Given the description of an element on the screen output the (x, y) to click on. 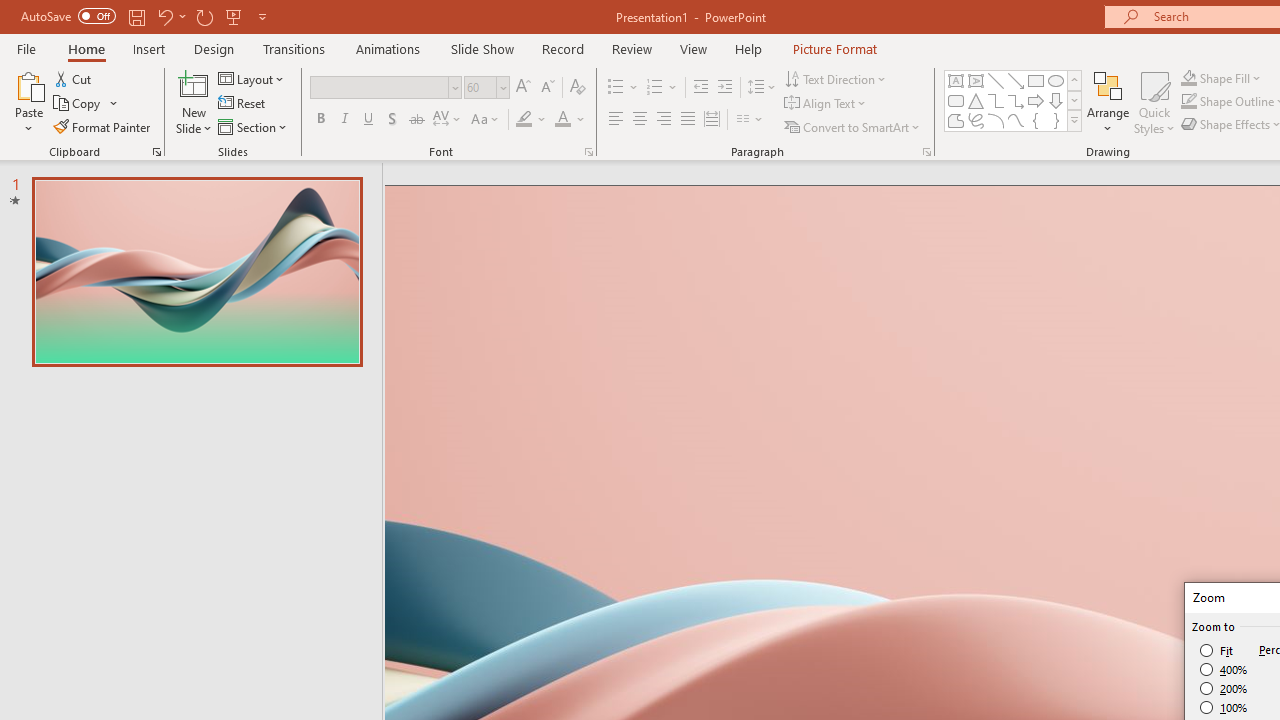
Vertical Text Box (975, 80)
Isosceles Triangle (975, 100)
Distributed (712, 119)
Justify (687, 119)
Character Spacing (447, 119)
Right Brace (1055, 120)
Font Color (569, 119)
Quick Styles (1154, 102)
Fit (1217, 650)
Shapes (1074, 120)
